Given the description of an element on the screen output the (x, y) to click on. 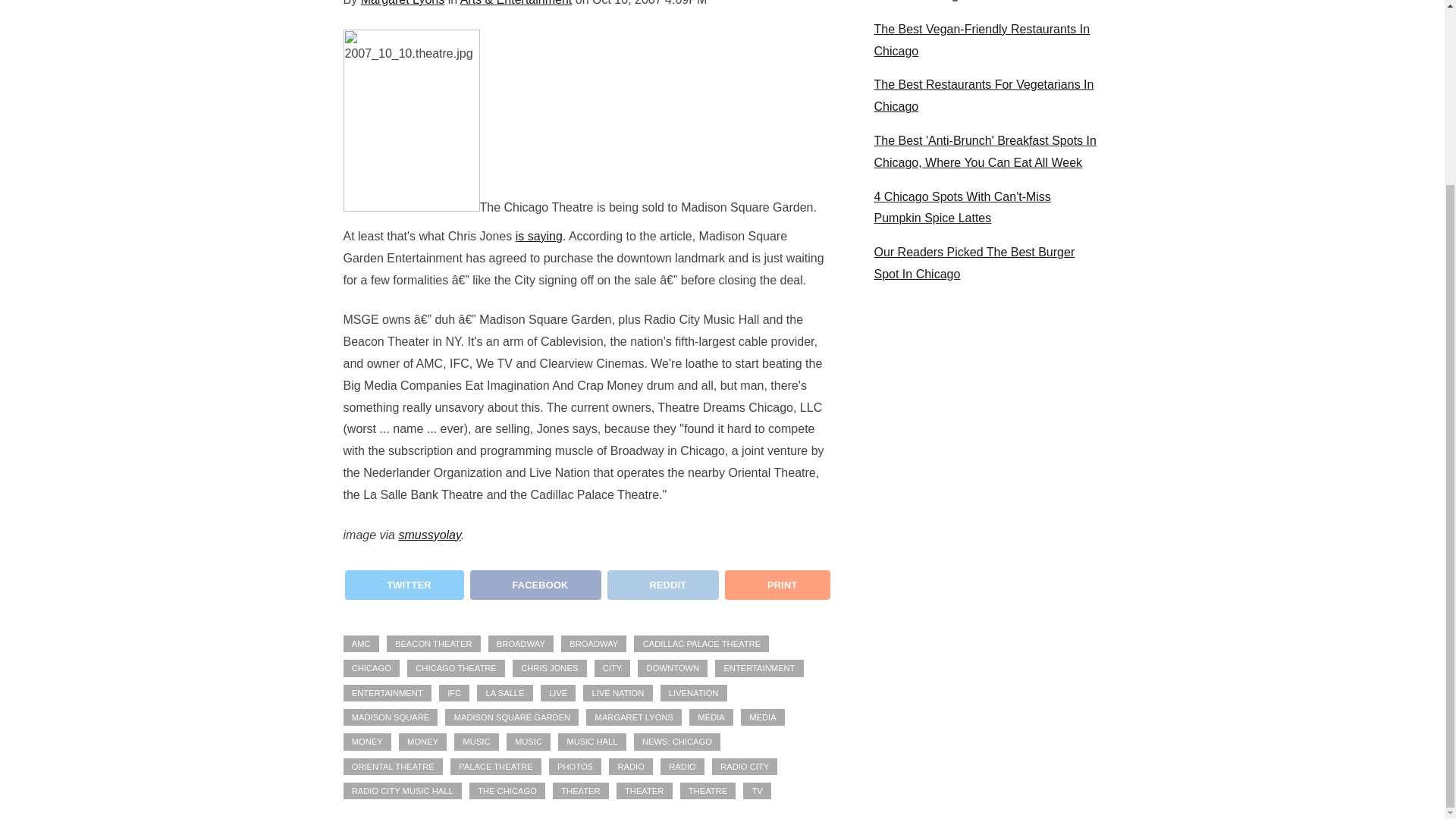
BEACON THEATER (433, 643)
DOWNTOWN (672, 668)
Margaret Lyons (403, 2)
REDDIT (663, 584)
PRINT (775, 590)
CHICAGO THEATRE (456, 668)
IFC (453, 692)
FACEBOOK (535, 584)
LIVE NATION (617, 692)
AMC (360, 643)
